Given the description of an element on the screen output the (x, y) to click on. 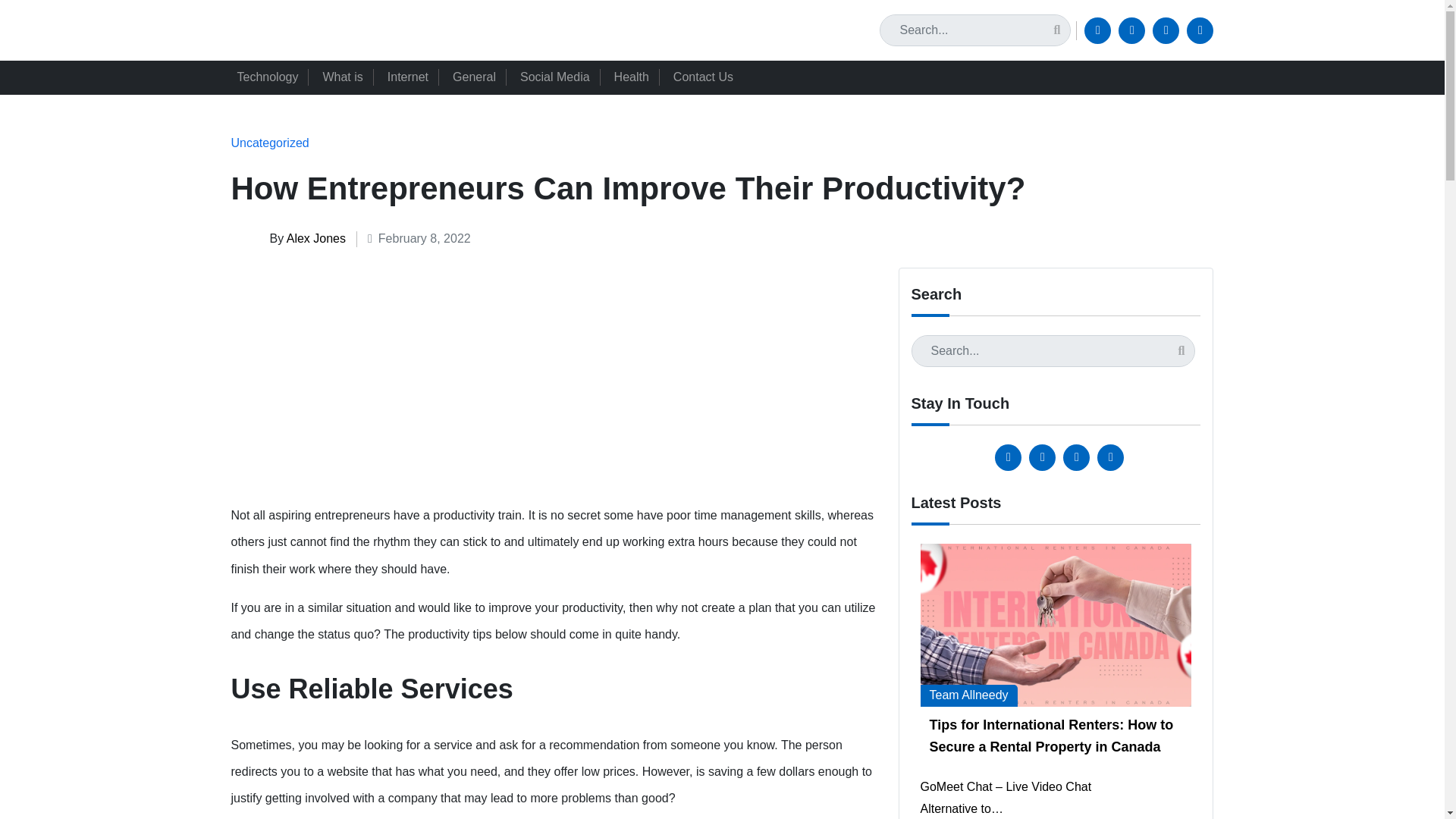
Contact Us (708, 77)
Search for: (1053, 350)
Social Media (560, 77)
Technology (272, 77)
Search for: (974, 29)
What is (347, 77)
Uncategorized (269, 142)
Health (637, 77)
